Given the description of an element on the screen output the (x, y) to click on. 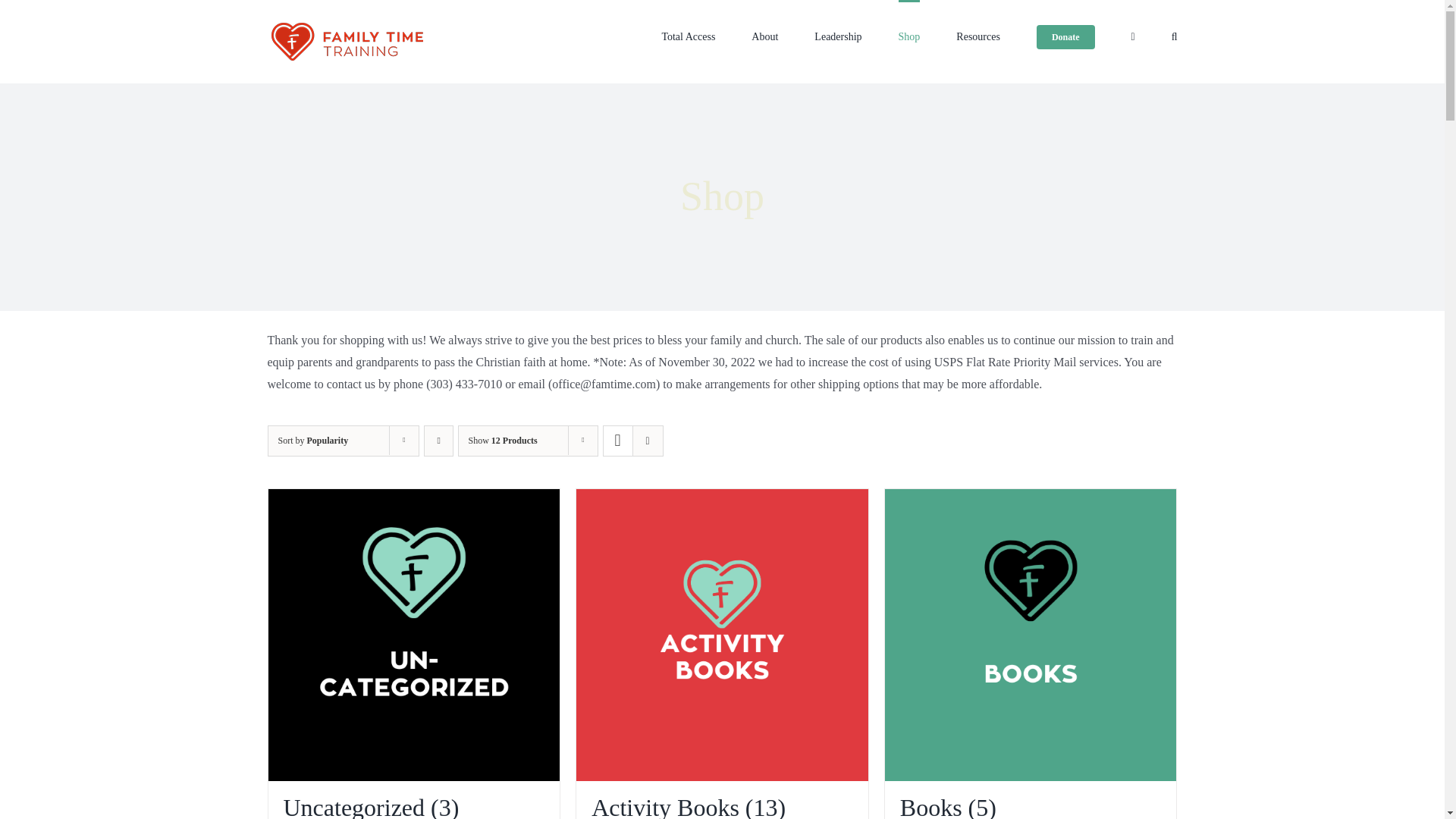
Sort by Popularity (312, 439)
